Given the description of an element on the screen output the (x, y) to click on. 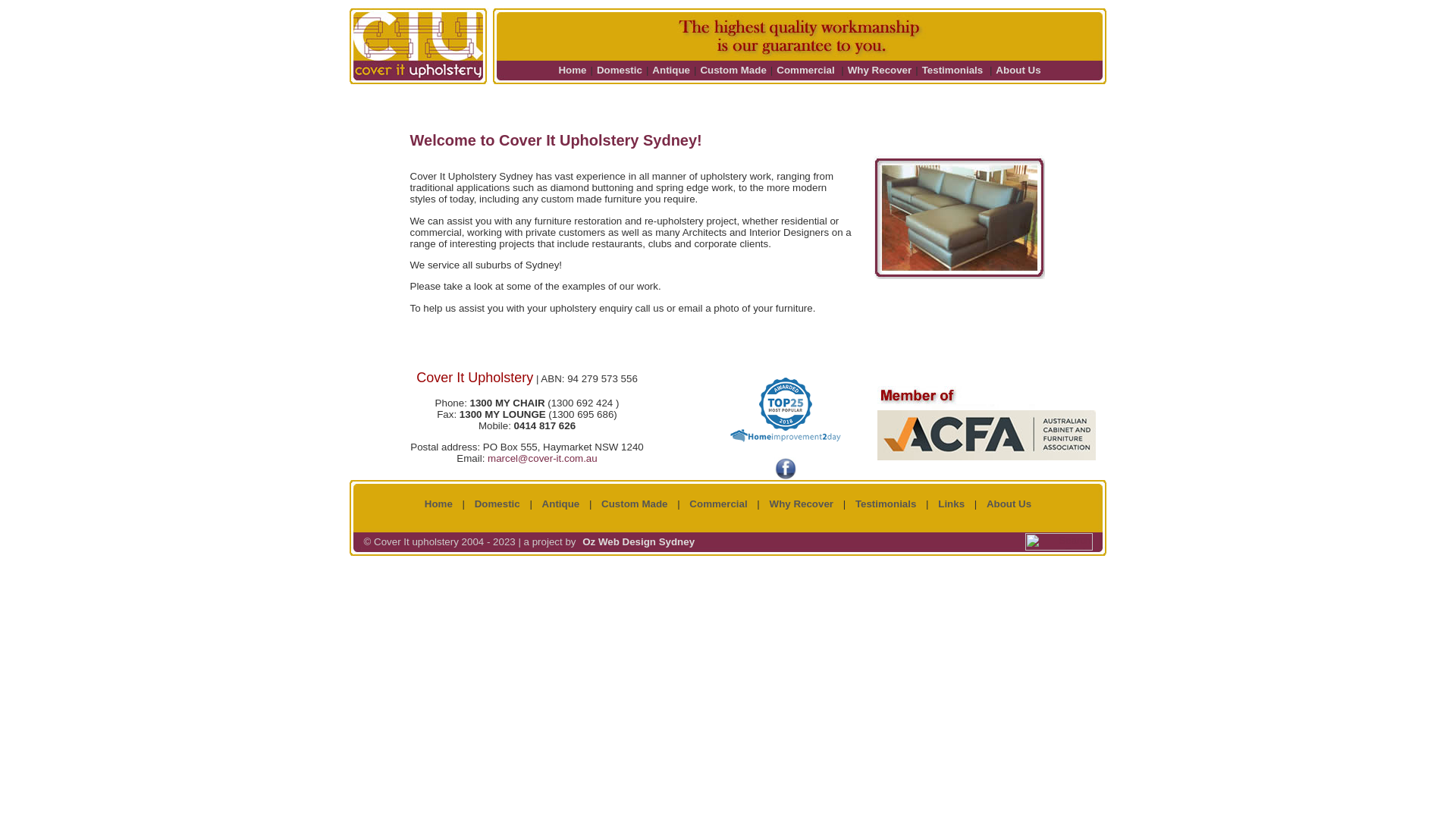
Custom Made Element type: text (634, 503)
Links Element type: text (951, 503)
Testimonials Element type: text (885, 503)
Antique Element type: text (670, 69)
Home Element type: text (571, 69)
Oz Web Design Sydney Element type: text (638, 541)
Testimonials Element type: text (952, 69)
About Us Element type: text (1017, 69)
Custom Made Element type: text (732, 69)
Commercial Element type: text (804, 69)
Domestic Element type: text (619, 69)
Home Element type: text (438, 503)
Antique Element type: text (560, 503)
Domestic Element type: text (497, 503)
marcel@cover-it.com.au Element type: text (542, 458)
Why Recover Element type: text (801, 503)
About Us Element type: text (1008, 503)
Why Recover Element type: text (879, 69)
Commercial Element type: text (717, 503)
Search Engin Optimisaiton Sydney Element type: hover (1058, 546)
